Given the description of an element on the screen output the (x, y) to click on. 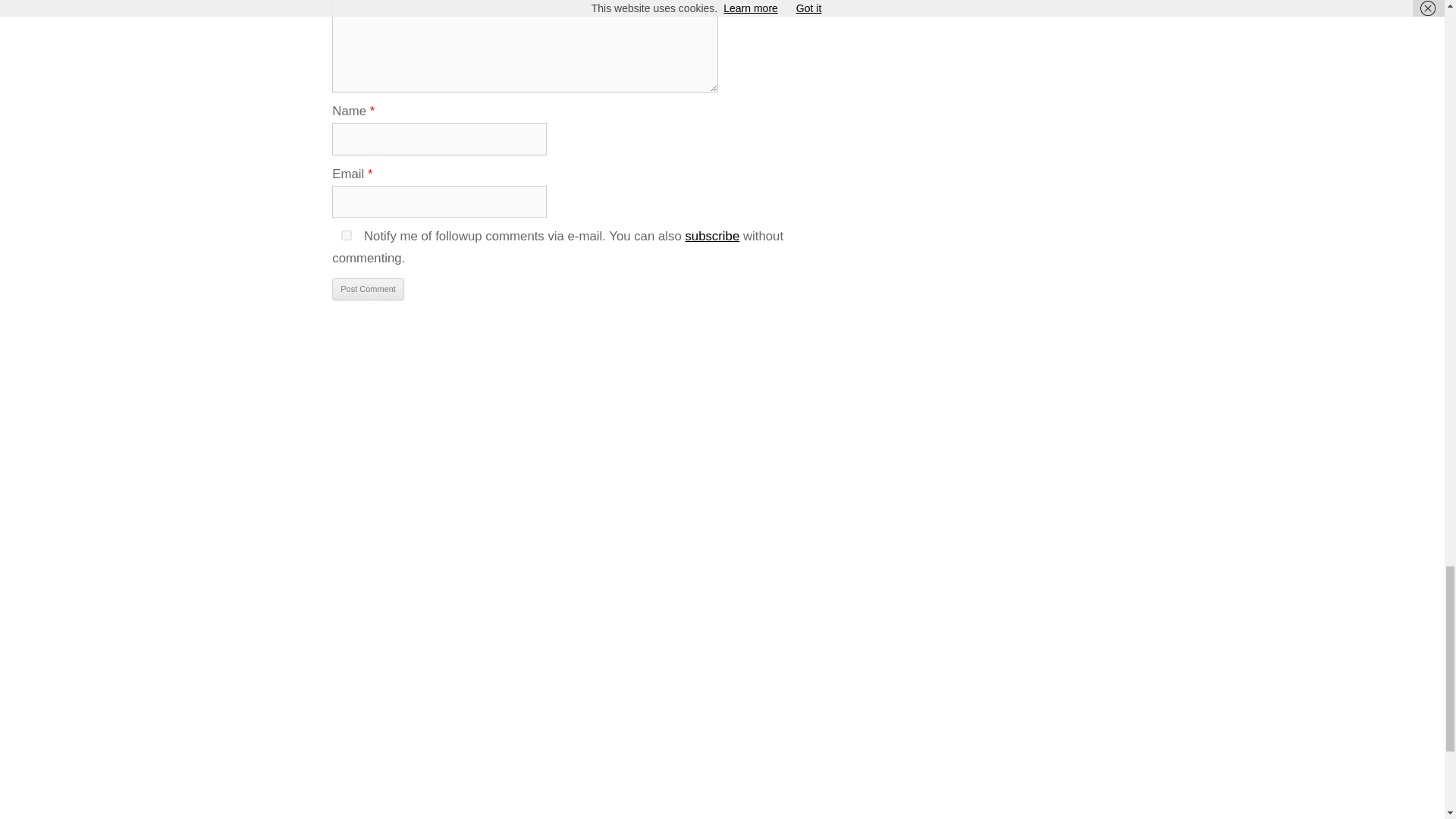
Post Comment (367, 289)
subscribe (711, 236)
yes (346, 235)
Post Comment (367, 289)
